Given the description of an element on the screen output the (x, y) to click on. 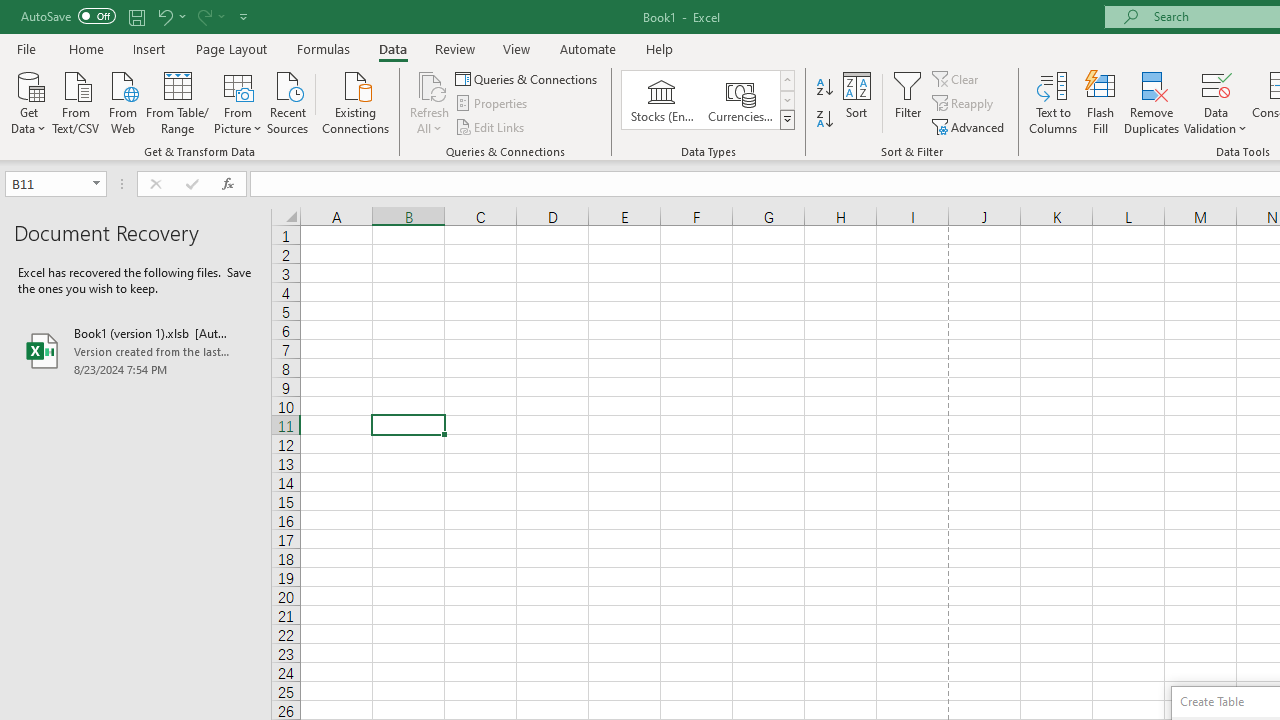
From Picture (238, 101)
Properties (492, 103)
From Web (122, 101)
From Table/Range (177, 101)
Advanced... (970, 126)
From Text/CSV (75, 101)
Get Data (28, 101)
Sort... (856, 102)
